Given the description of an element on the screen output the (x, y) to click on. 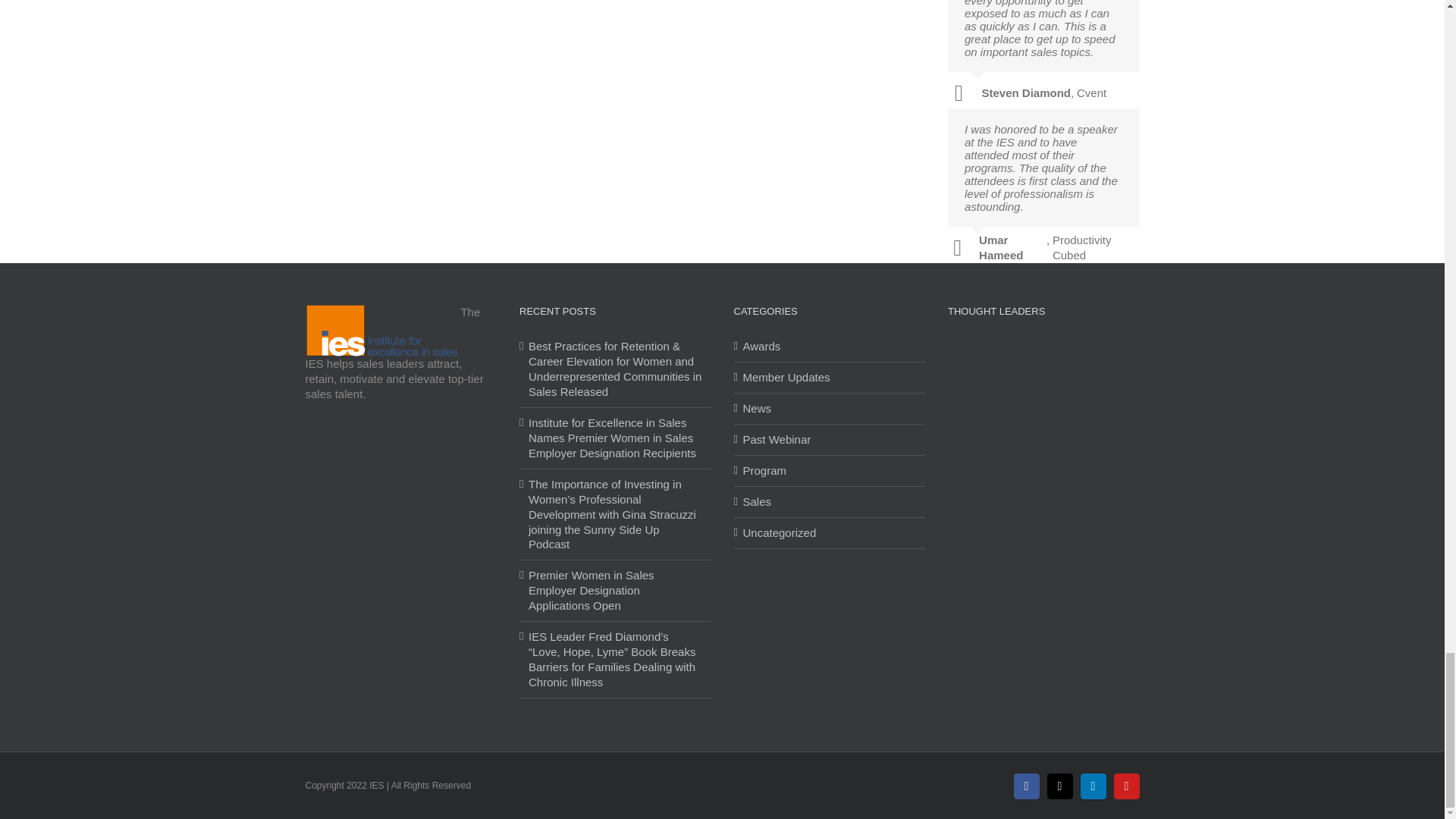
Vince Burruano (1067, 410)
Tien Wong (1018, 410)
Alyssa Merwin Henderson (1067, 362)
Mayssa Haddad (969, 410)
Robert Greene (1117, 362)
Dave Rey (969, 458)
Joe Ayers (969, 362)
Alan Stein, Jr. (1067, 458)
Lauryn Scott (1018, 458)
Susan Shapero (1018, 362)
Jennifer Chronis (1117, 410)
